Given the description of an element on the screen output the (x, y) to click on. 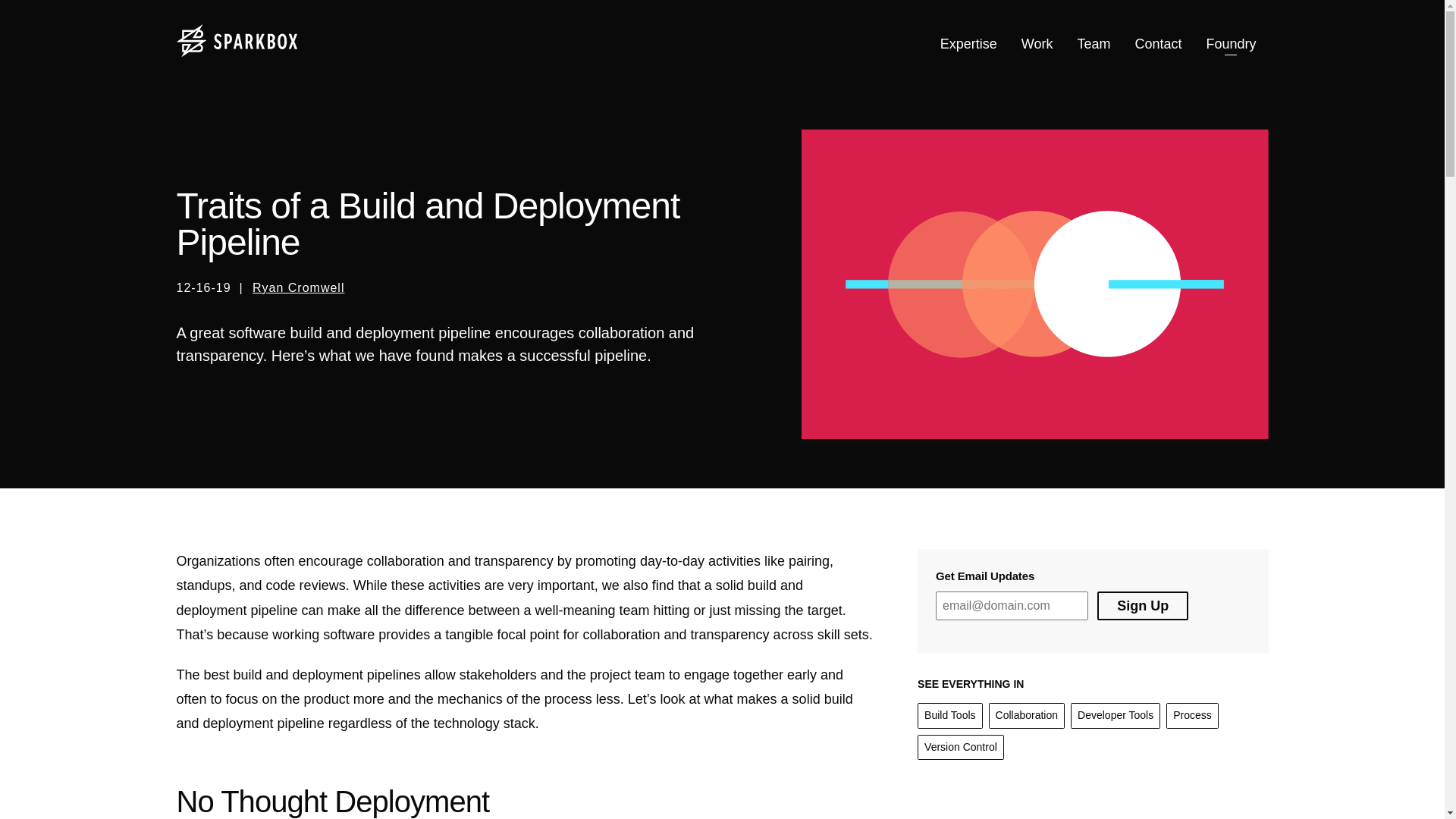
Sparkbox Homepage (237, 40)
Expertise (968, 44)
Build Tools (949, 715)
Work (1037, 44)
Foundry (1230, 44)
Ryan Cromwell (297, 287)
Team (1093, 44)
Version Control (960, 747)
Collaboration (1027, 715)
Developer Tools (1114, 715)
